Given the description of an element on the screen output the (x, y) to click on. 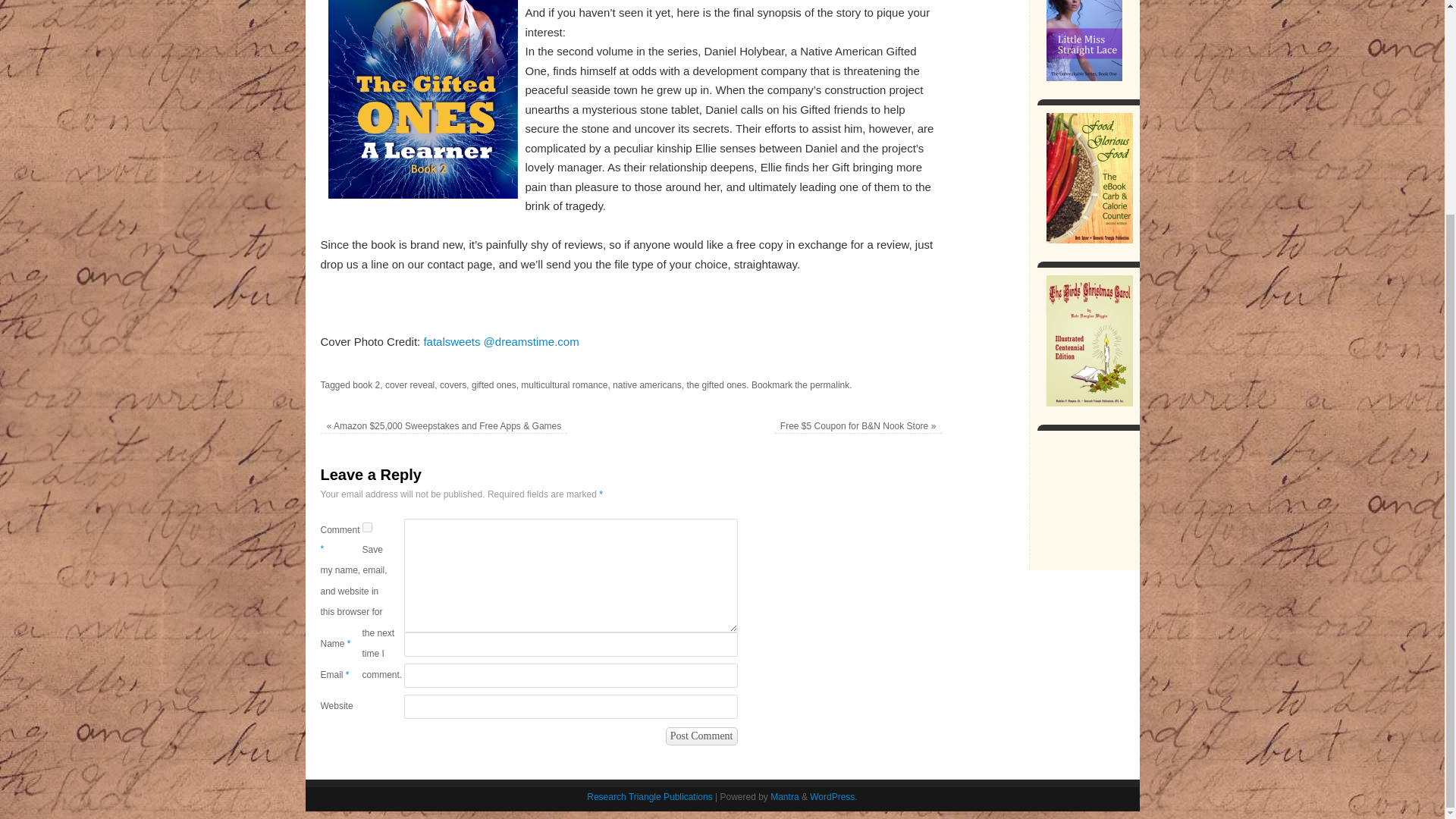
Permalink to The Gifted Ones Book 2: A Learner (828, 385)
Post Comment (701, 736)
Unbreakable Series (1084, 40)
yes (367, 527)
Research Triangle Publications (648, 796)
